Given the description of an element on the screen output the (x, y) to click on. 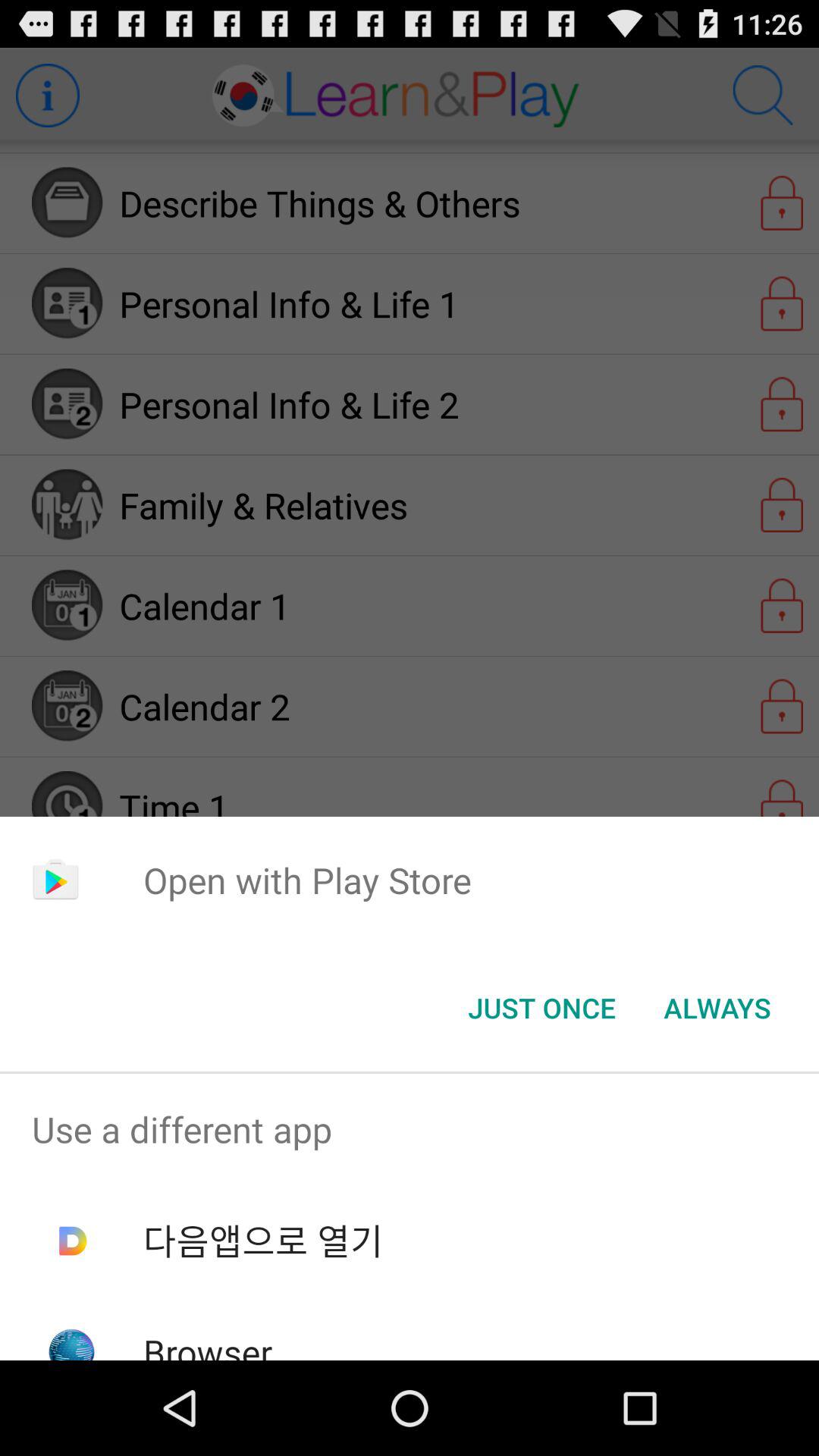
flip to the always (717, 1007)
